Given the description of an element on the screen output the (x, y) to click on. 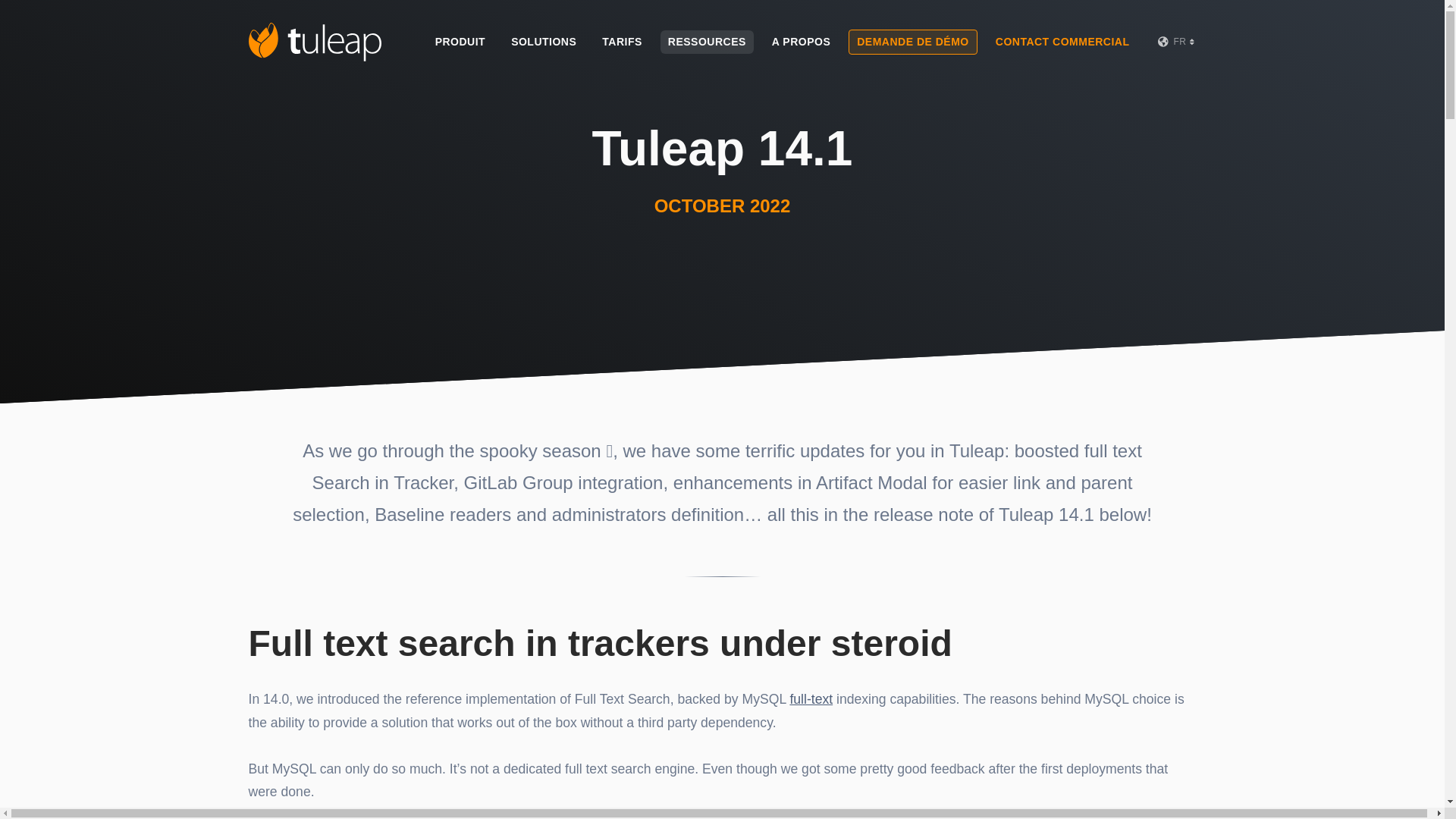
A PROPOS (801, 42)
RESSOURCES (707, 42)
SOLUTIONS (543, 42)
PRODUIT (460, 42)
Accueil (314, 41)
TARIFS (621, 42)
